Given the description of an element on the screen output the (x, y) to click on. 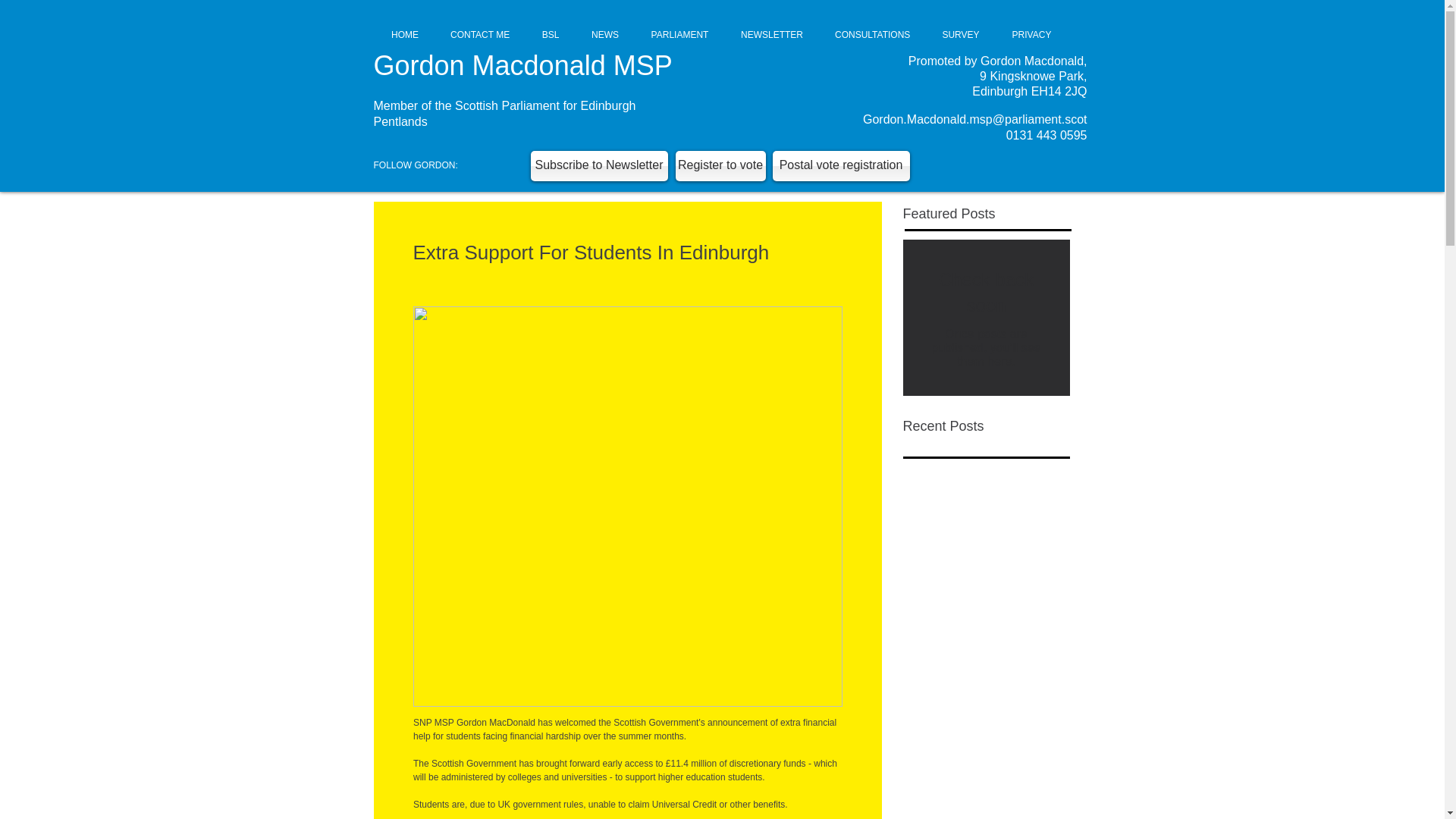
Postal vote registration (839, 165)
CONTACT ME (479, 34)
HOME (404, 34)
BSL (550, 34)
Subscribe to Newsletter (599, 165)
Register to vote (720, 165)
SURVEY (960, 34)
NEWSLETTER (771, 34)
PARLIAMENT (679, 34)
CONSULTATIONS (872, 34)
